Given the description of an element on the screen output the (x, y) to click on. 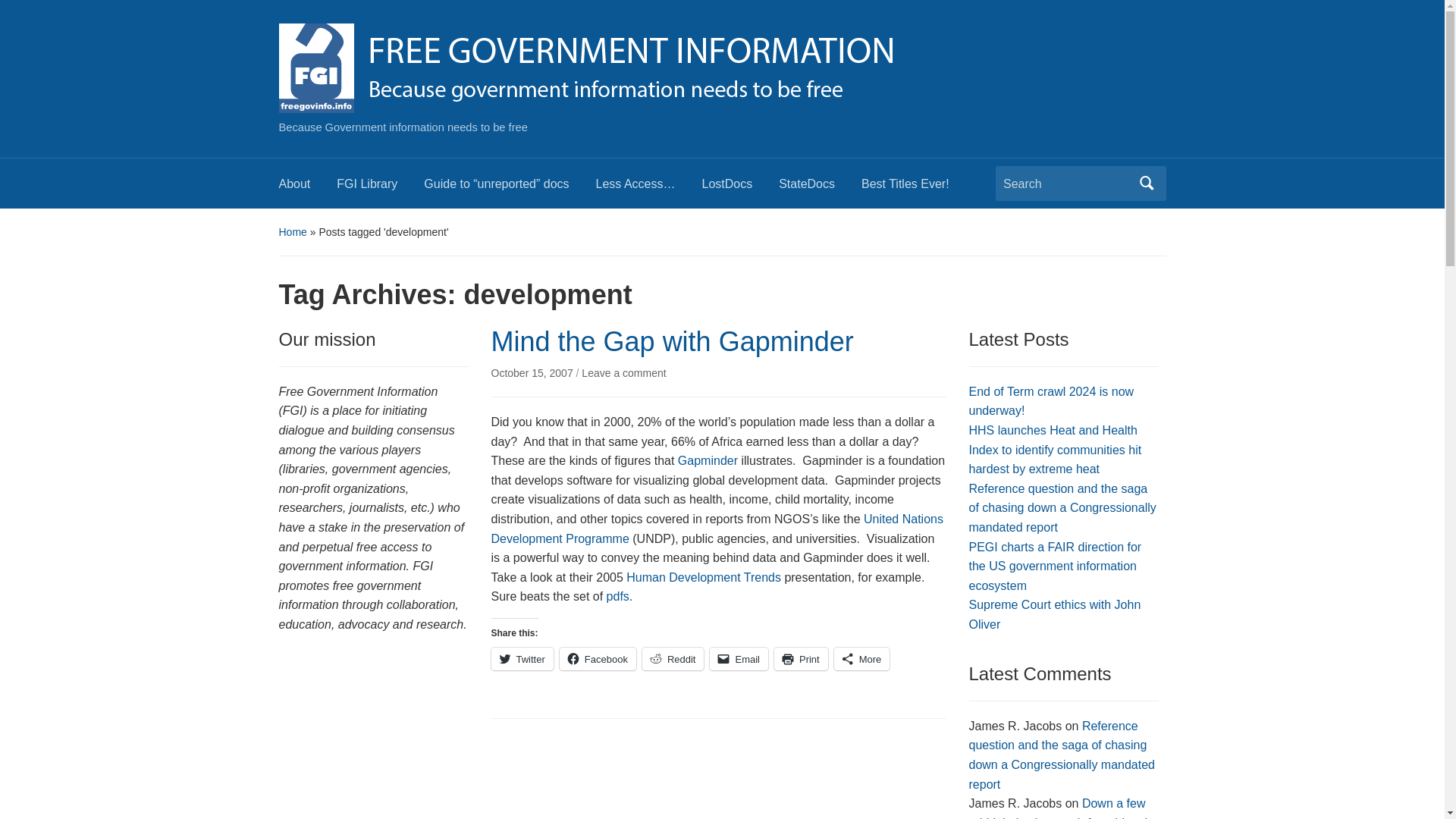
Supreme Court ethics with John Oliver (1055, 614)
October 15, 2007 (534, 372)
Gapminder (709, 460)
Twitter (522, 658)
Click to share on Twitter (522, 658)
Permanent Link to Mind the Gap with Gapminder (534, 372)
Human Development Trends (703, 576)
pdfs (617, 595)
Reddit (673, 658)
Leave a comment (622, 372)
